Given the description of an element on the screen output the (x, y) to click on. 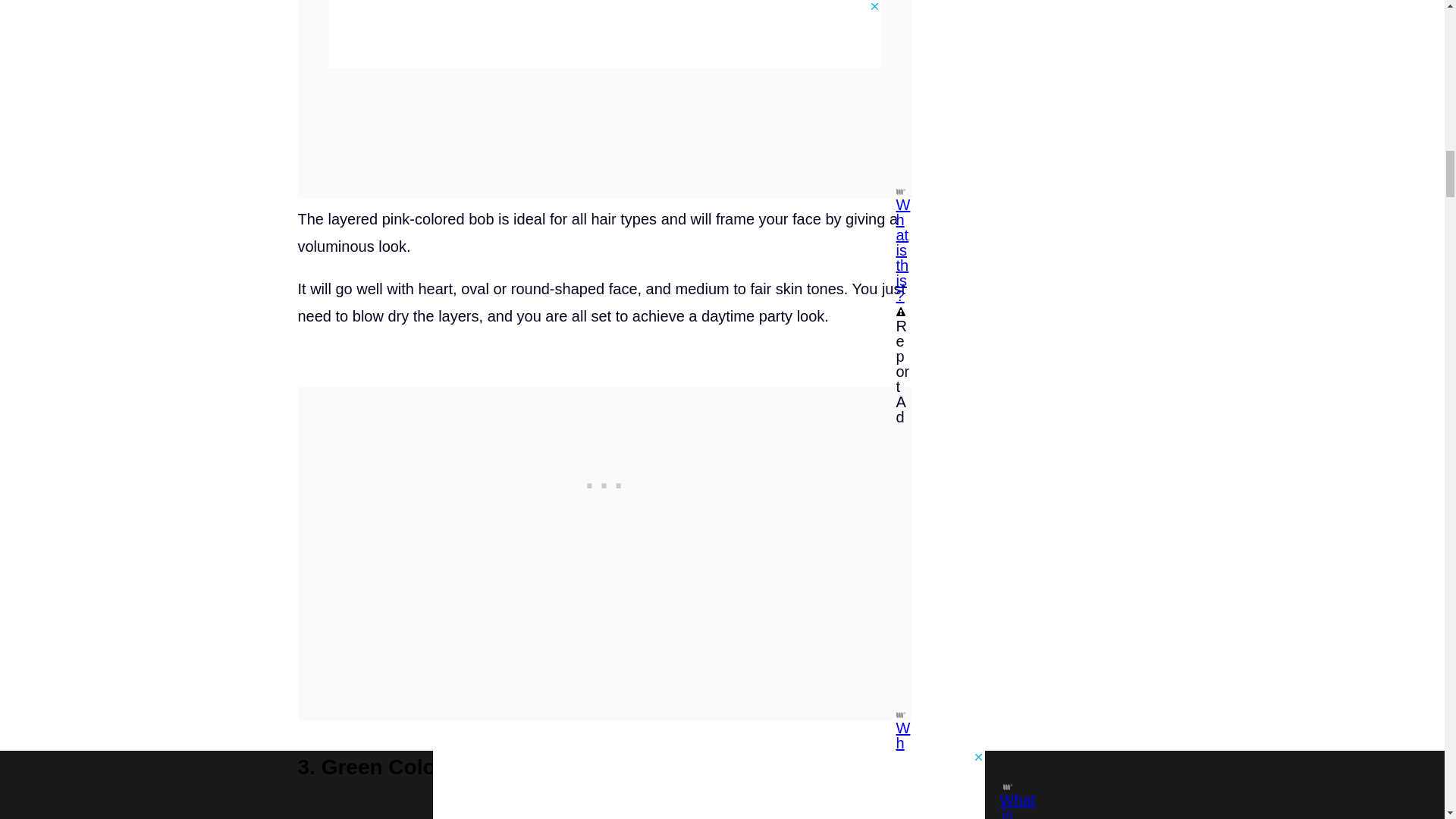
3rd party ad content (605, 482)
